Given the description of an element on the screen output the (x, y) to click on. 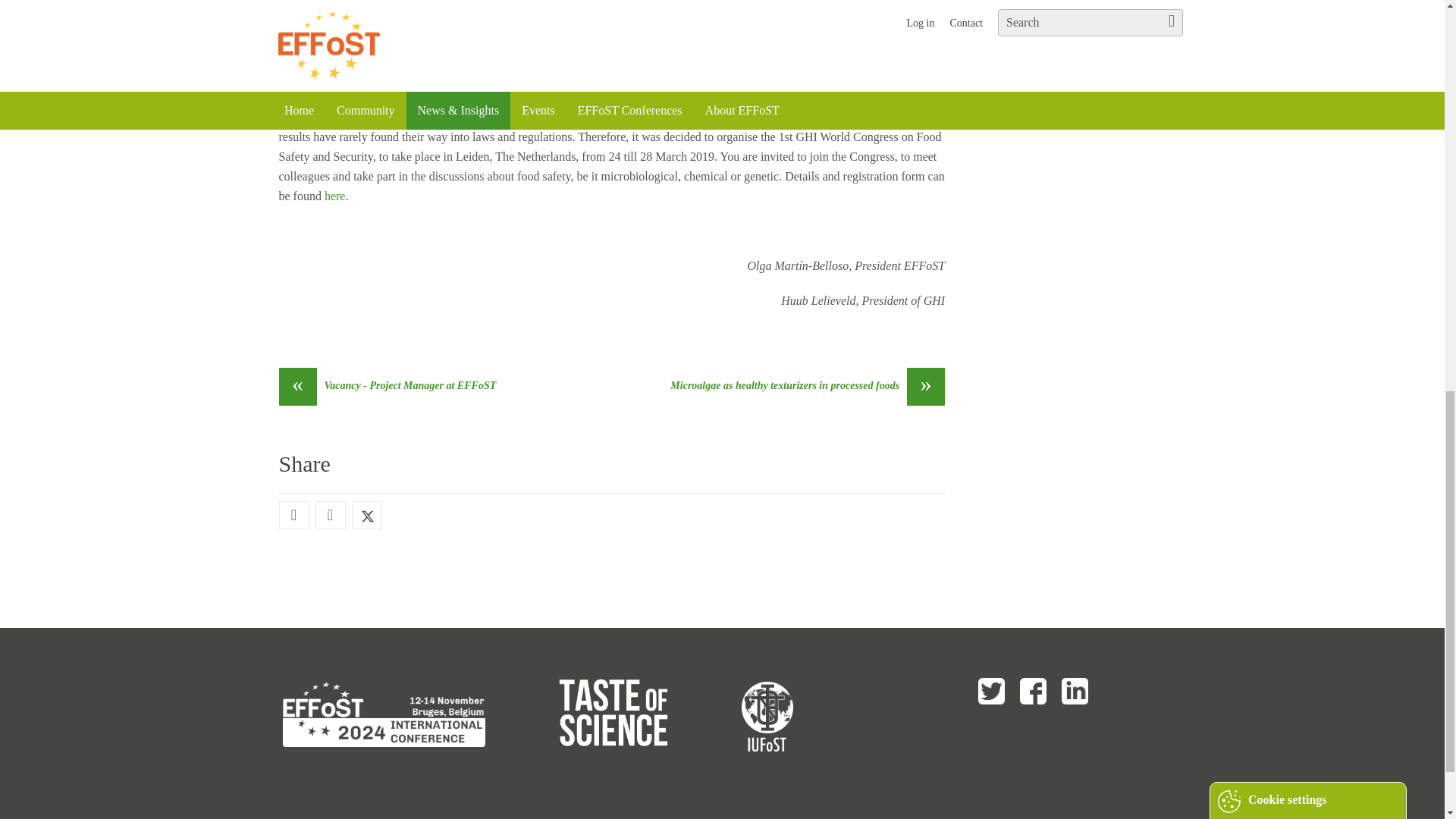
Ga naar 'Vacancy - Project Manager at EFFoST' (387, 386)
Deel deze pagina via Facebook (292, 515)
Deel deze pagina via LinkedIn (328, 515)
